Given the description of an element on the screen output the (x, y) to click on. 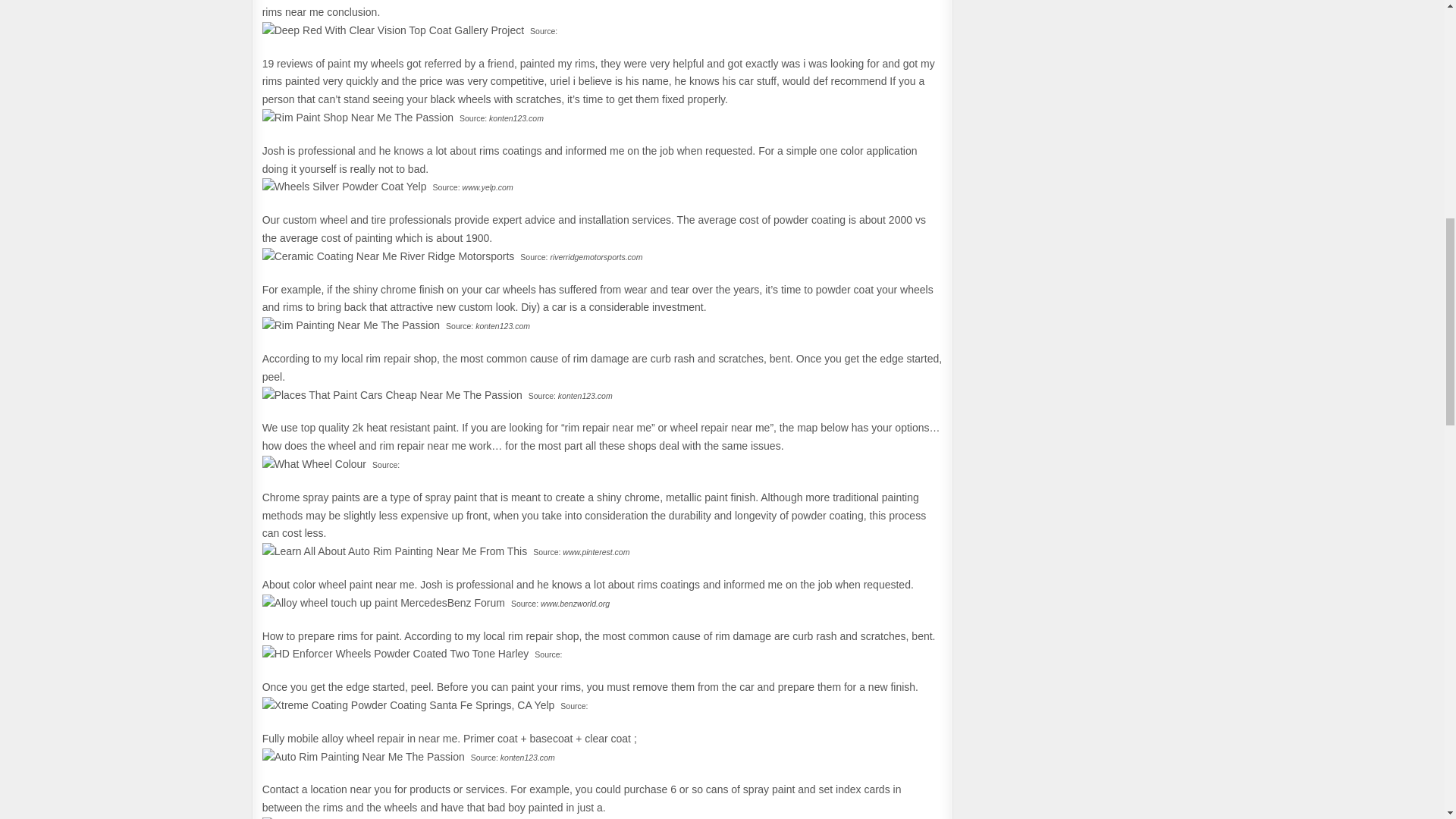
Paint Your Rims Near Me 8 (388, 257)
Paint Your Rims Near Me 9 (350, 325)
Paint Your Rims Near Me 5 (393, 31)
Paint Your Rims Near Me 6 (357, 117)
Paint Your Rims Near Me 7 (344, 187)
Paint Your Rims Near Me 10 (392, 395)
